Given the description of an element on the screen output the (x, y) to click on. 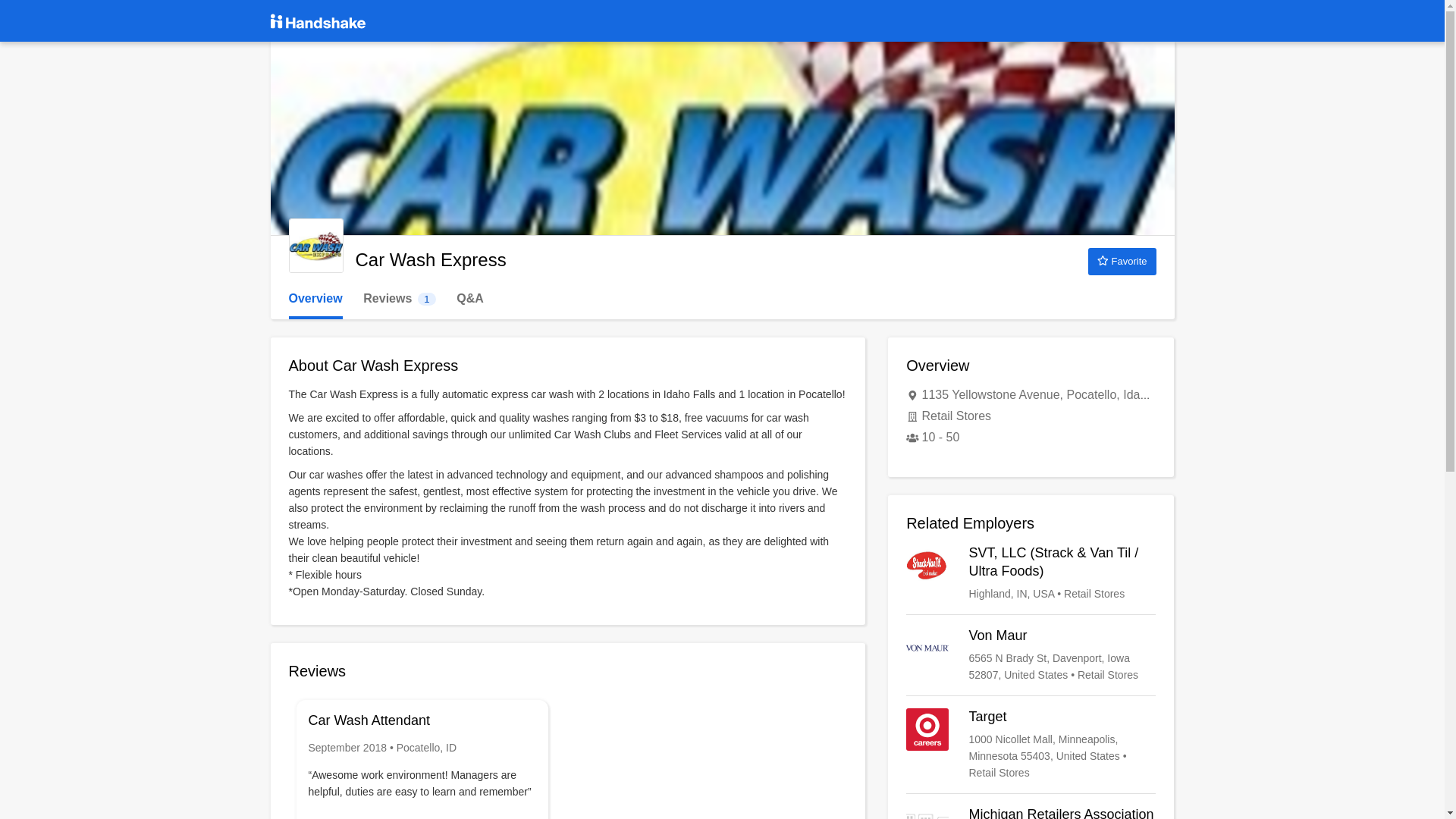
Overview (315, 298)
Car Wash Express (315, 245)
Favorite (1121, 261)
Target (1030, 744)
Von Maur (1030, 655)
Michigan Retailers Association (1030, 812)
